Given the description of an element on the screen output the (x, y) to click on. 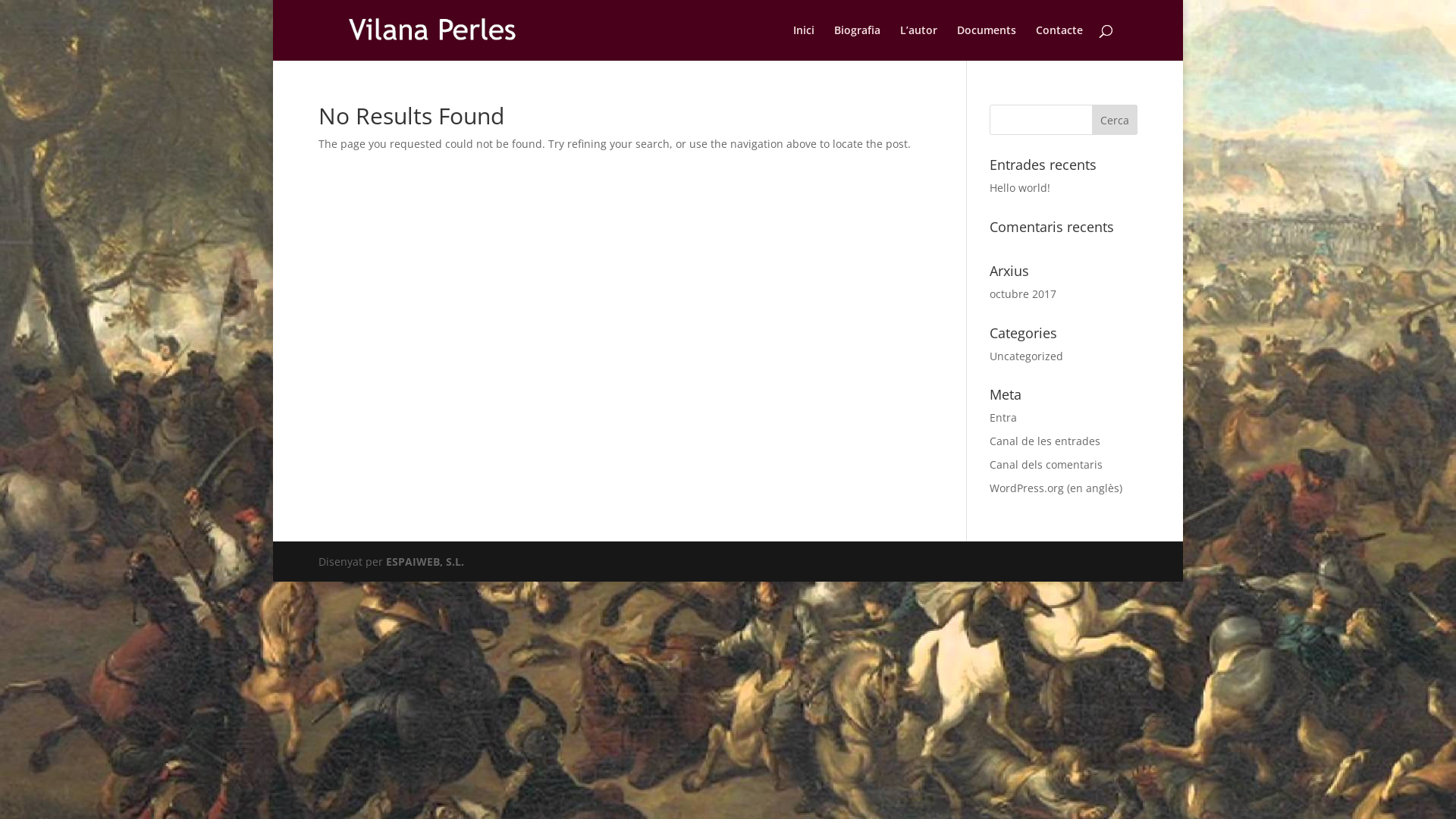
Documents Element type: text (986, 42)
octubre 2017 Element type: text (1022, 293)
Inici Element type: text (803, 42)
Biografia Element type: text (857, 42)
Entra Element type: text (1002, 417)
Canal dels comentaris Element type: text (1045, 464)
Hello world! Element type: text (1019, 187)
ESPAIWEB, S.L. Element type: text (424, 561)
Canal de les entrades Element type: text (1044, 440)
Contacte Element type: text (1058, 42)
Cerca Element type: text (1114, 119)
Uncategorized Element type: text (1026, 355)
